Given the description of an element on the screen output the (x, y) to click on. 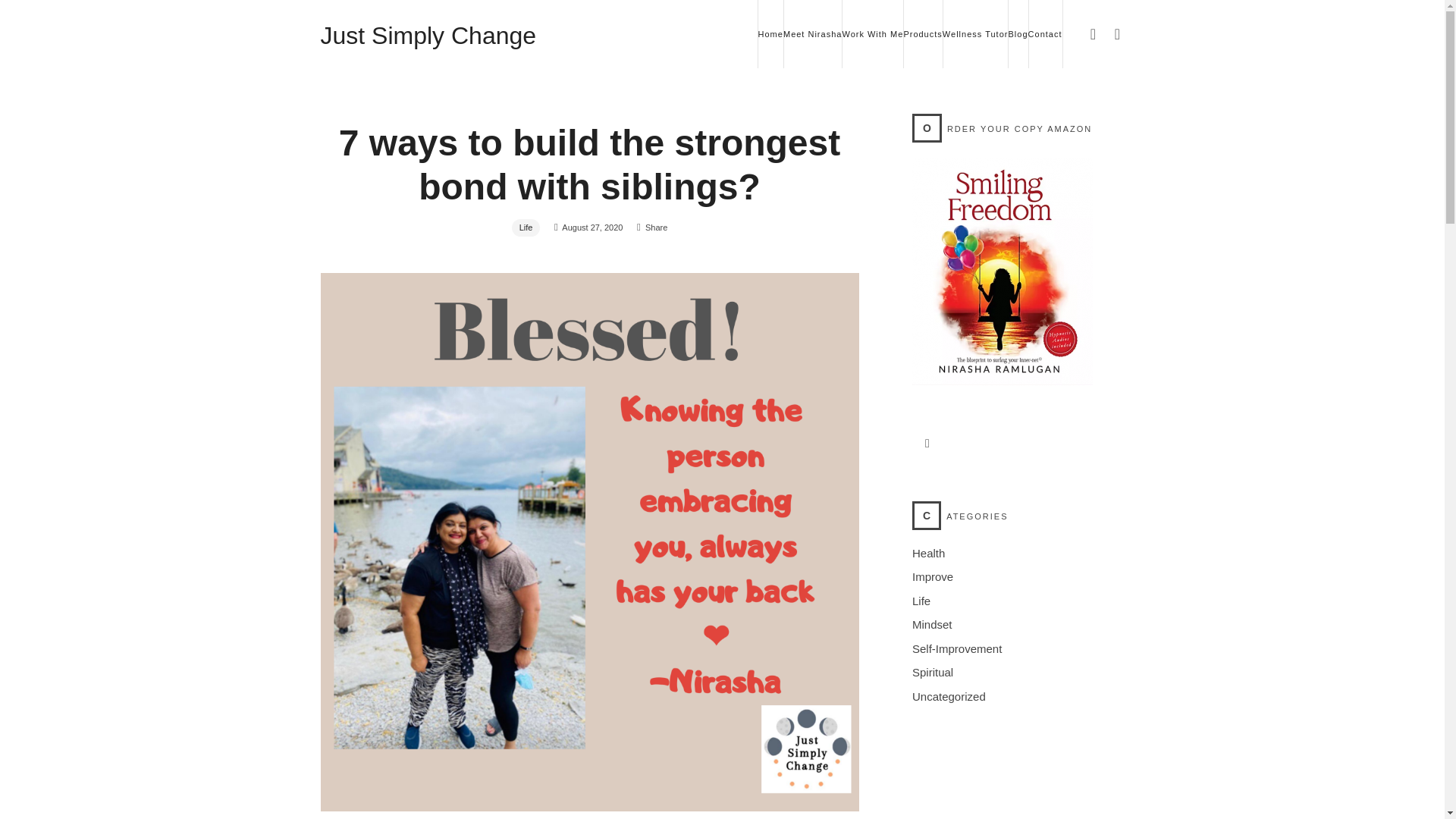
Just Simply Change (427, 33)
Work With Me (871, 33)
Life (526, 227)
Wellness Tutor (975, 33)
August 27, 2020 (592, 226)
